Given the description of an element on the screen output the (x, y) to click on. 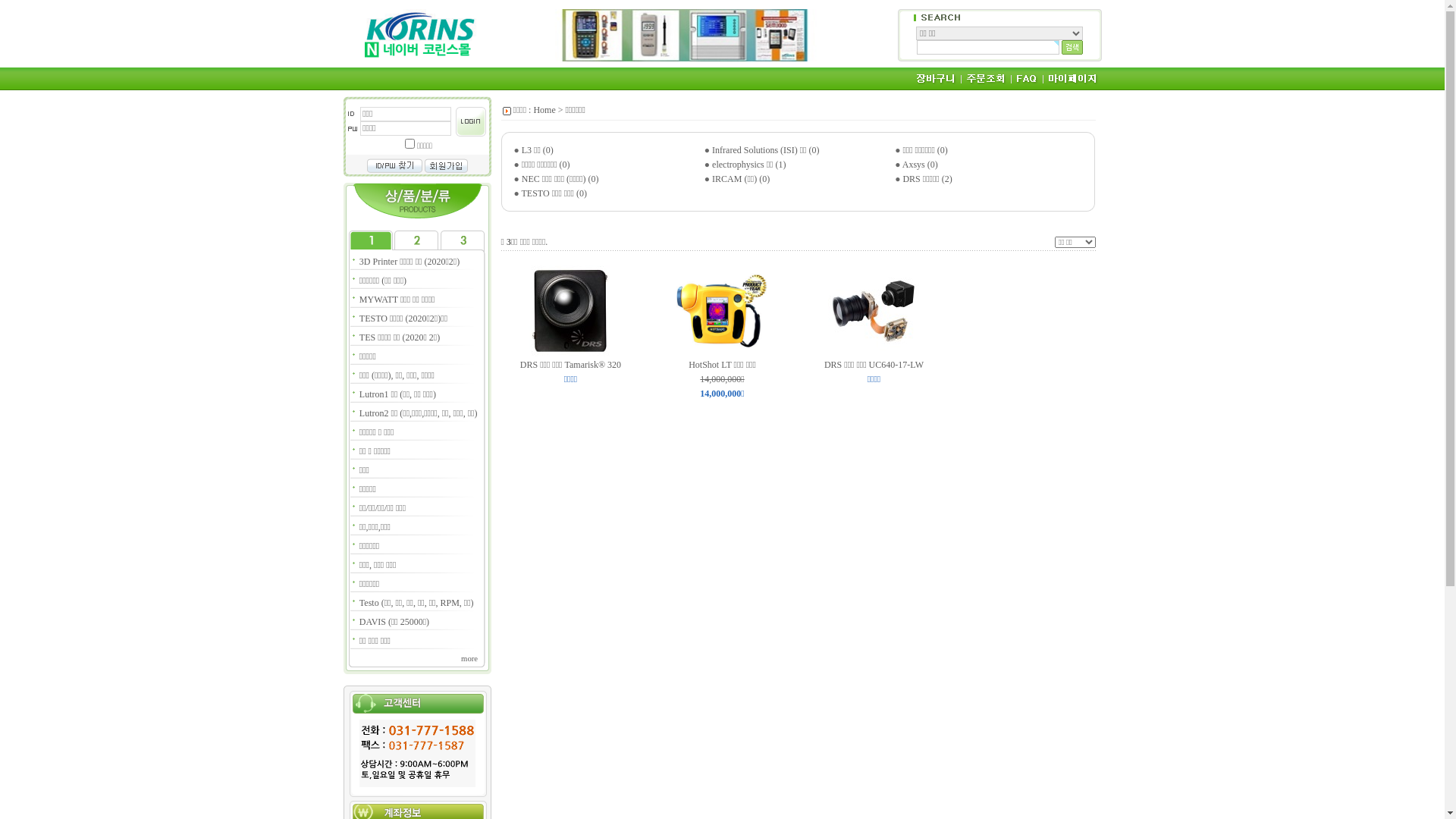
Home Element type: text (544, 109)
more Element type: text (469, 657)
Axsys (0) Element type: text (920, 164)
1 Element type: text (409, 142)
